Given the description of an element on the screen output the (x, y) to click on. 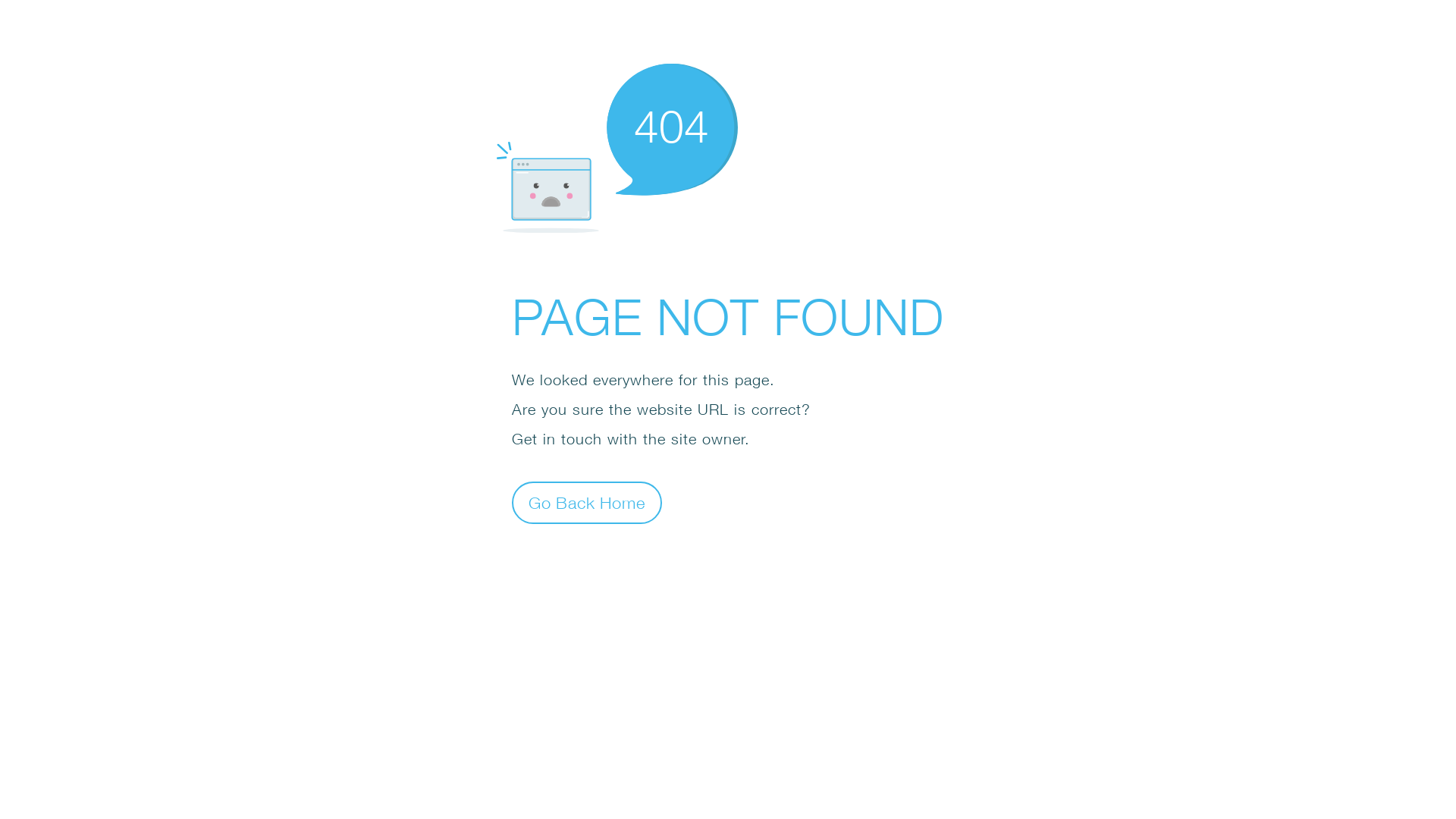
Go Back Home Element type: text (586, 502)
